Given the description of an element on the screen output the (x, y) to click on. 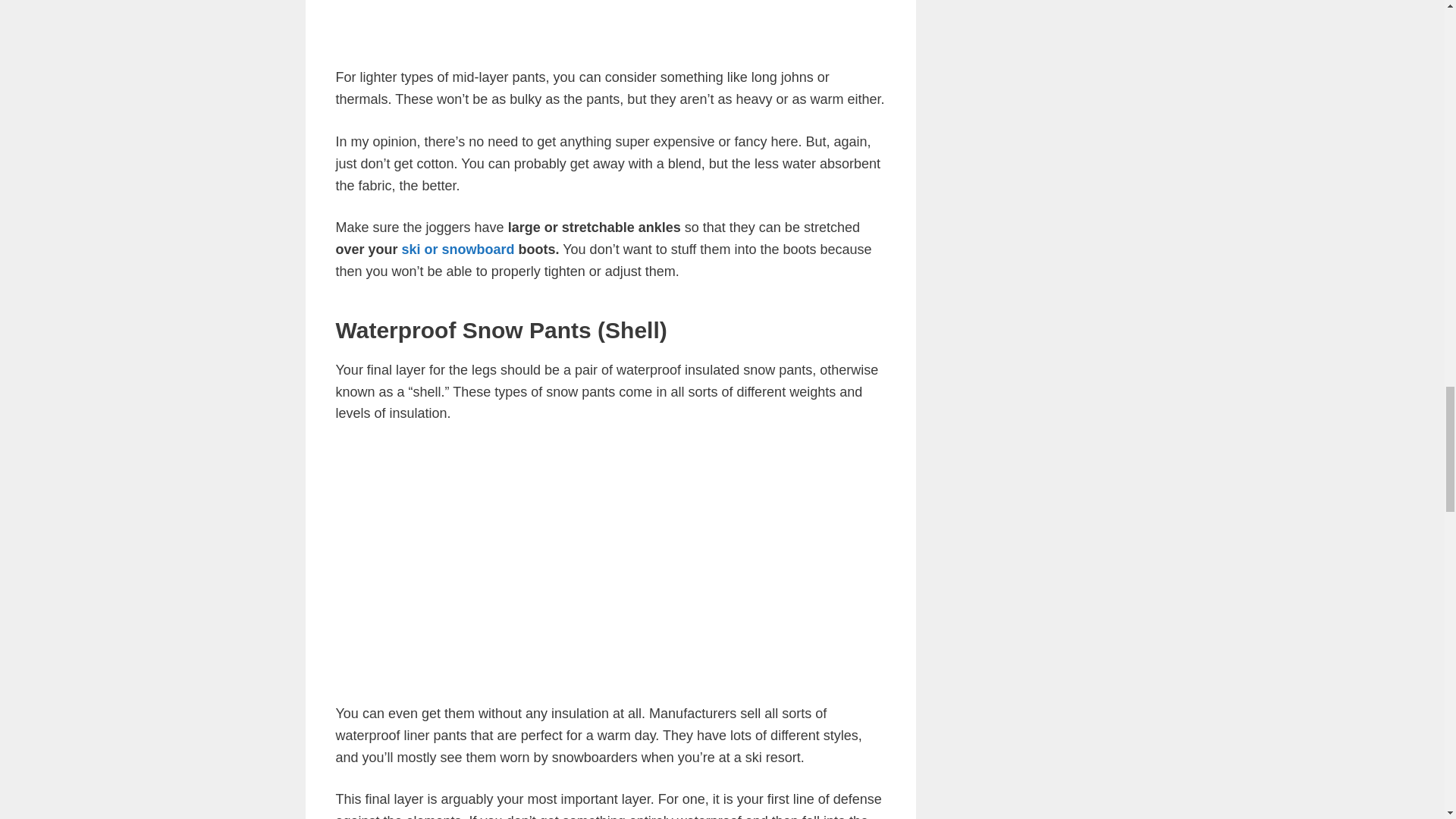
my-fleece-second-layer-pants (609, 19)
my snow bib laid out on the floor (600, 560)
ski or snowboard (458, 249)
